Given the description of an element on the screen output the (x, y) to click on. 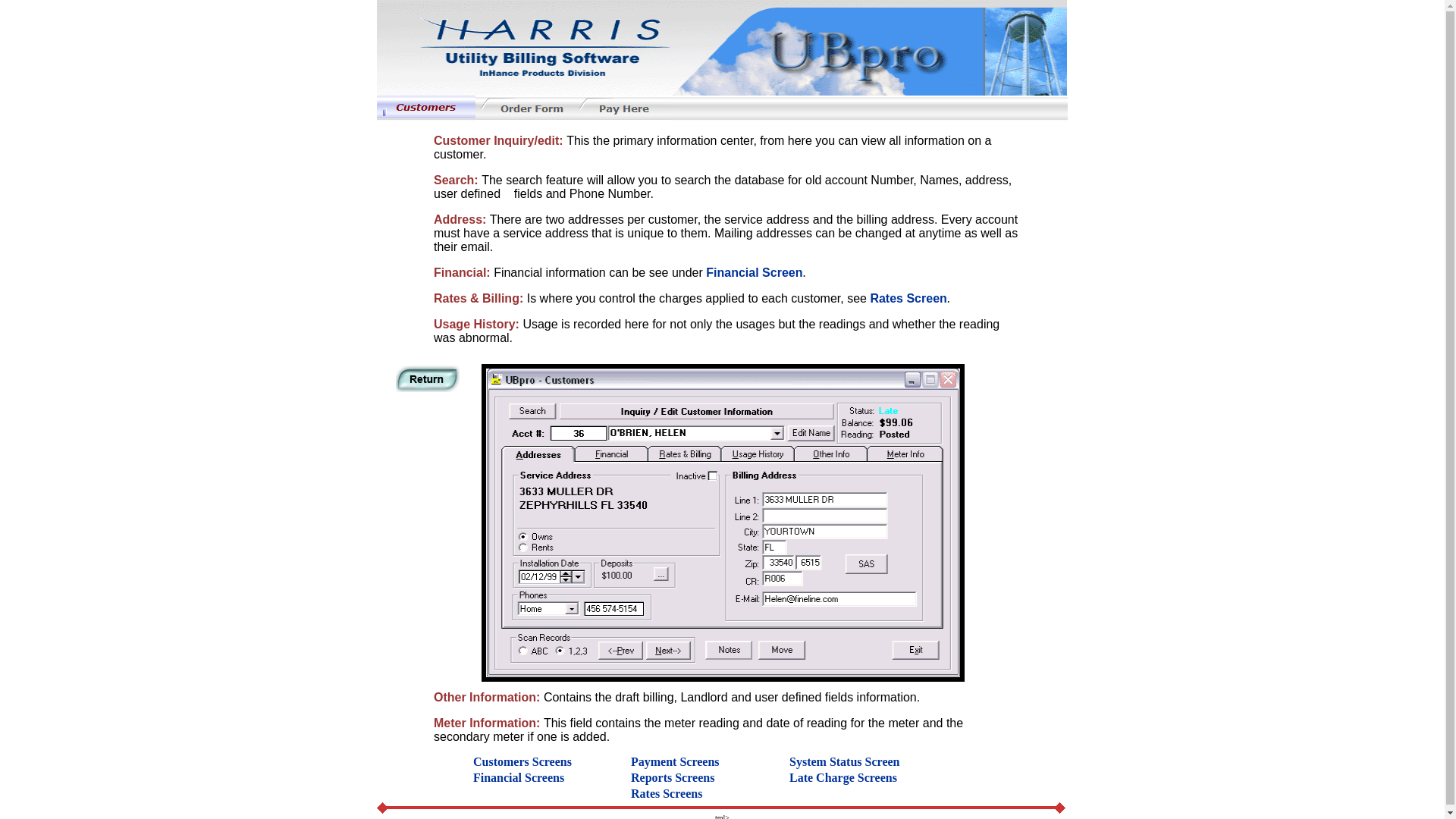
Financial Screen (754, 272)
Pay Here (622, 108)
Customers Screens (426, 106)
Order Form (524, 108)
UBProbanner1 (722, 47)
Customers Screens (522, 761)
Sales (428, 377)
Financial Screens (518, 777)
Late Charge Screens (842, 777)
